Given the description of an element on the screen output the (x, y) to click on. 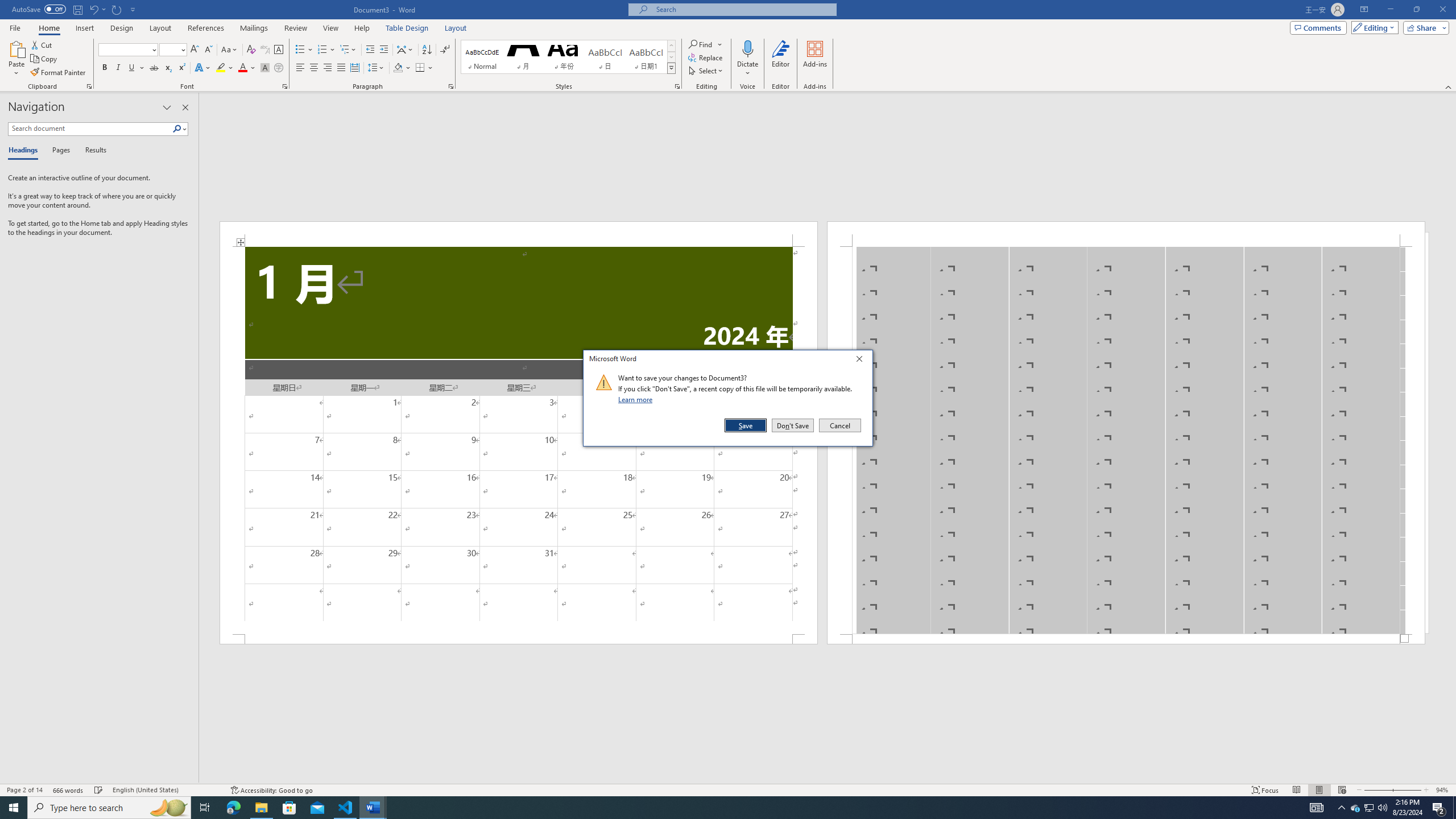
Bold (104, 67)
Sort... (426, 49)
AutomationID: 4105 (1316, 807)
Phonetic Guide... (264, 49)
Font... (285, 85)
Line and Paragraph Spacing (376, 67)
Styles (670, 67)
